Given the description of an element on the screen output the (x, y) to click on. 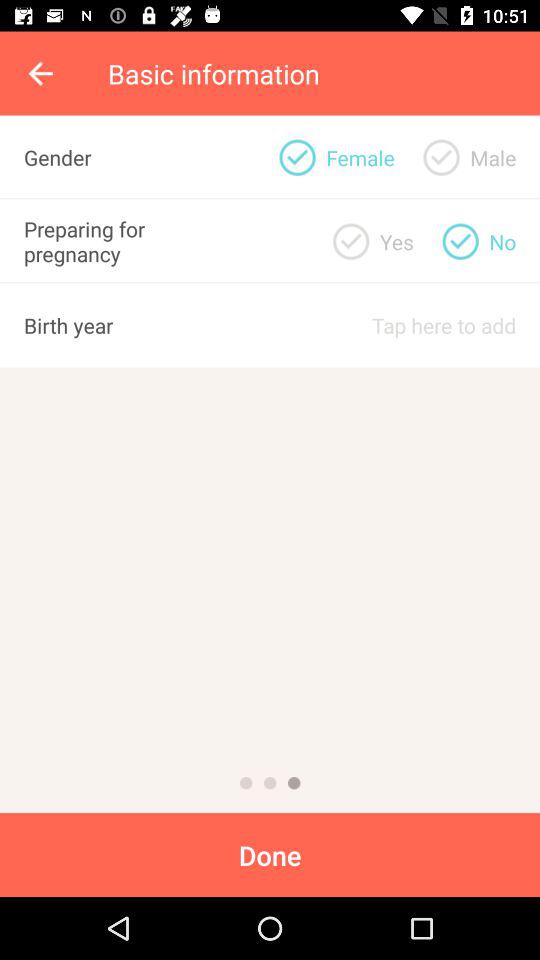
choose item below male item (502, 241)
